Given the description of an element on the screen output the (x, y) to click on. 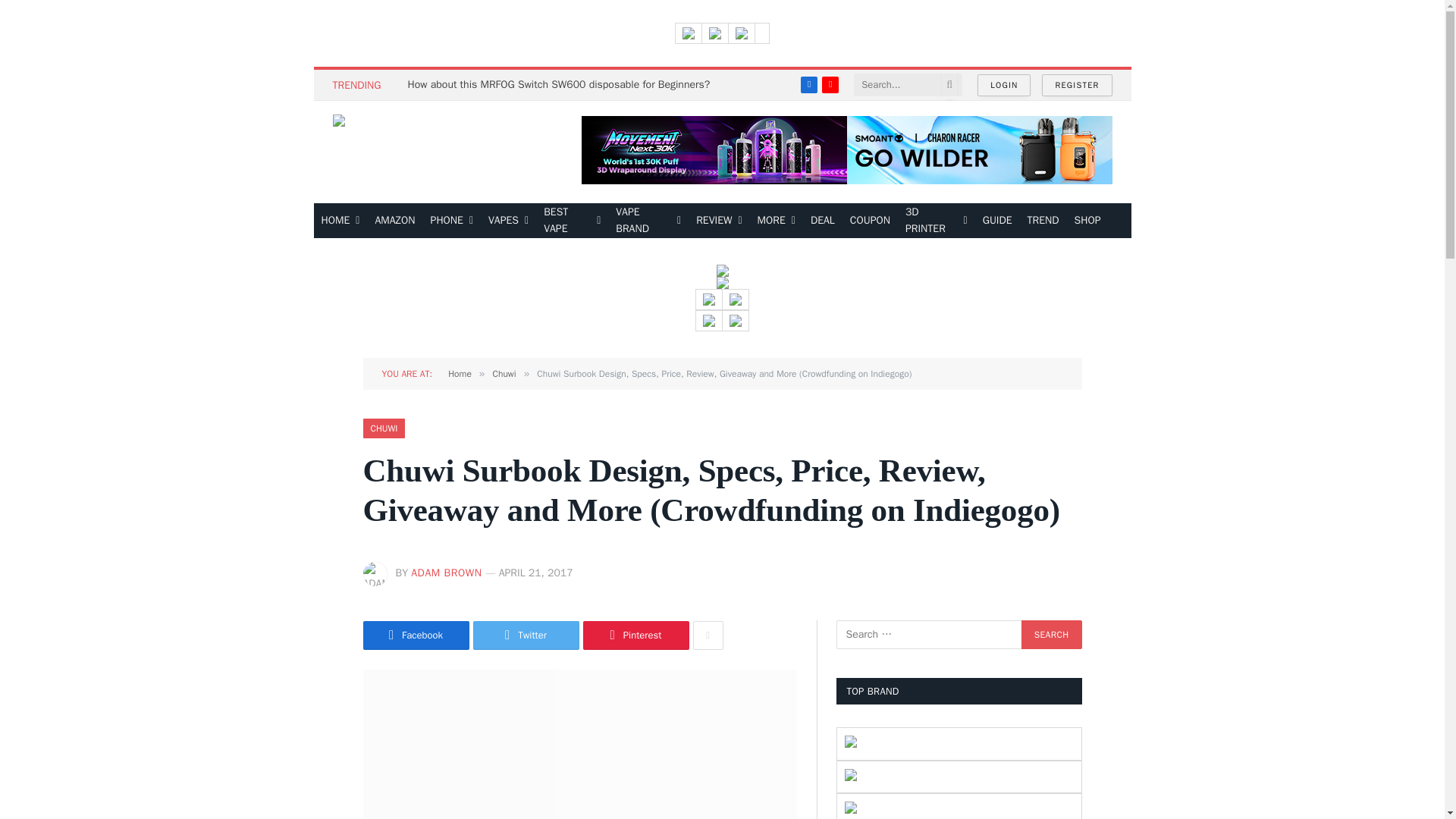
Show More Social Sharing (708, 635)
YouTube (830, 84)
Share on Twitter (526, 635)
How about this MRFOG Switch SW600 disposable for Beginners? (562, 84)
Share on Facebook (415, 635)
AMAZON (394, 220)
PHONE (451, 220)
HOME (341, 220)
Share on Pinterest (635, 635)
Posts by Adam BROWN (445, 572)
